Given the description of an element on the screen output the (x, y) to click on. 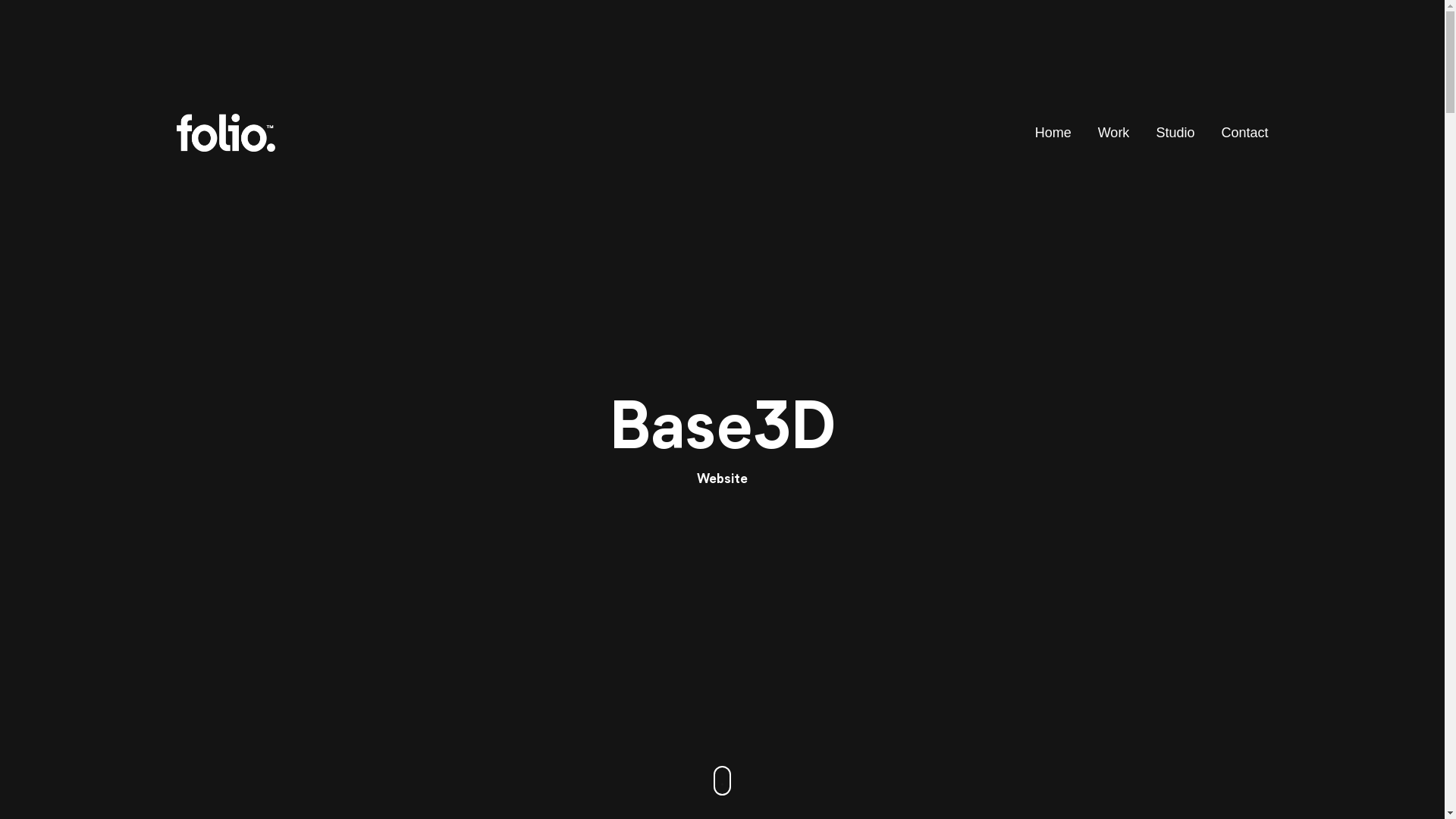
Studio Element type: text (1174, 132)
Work Element type: text (1113, 132)
Contact Element type: text (1243, 132)
Home Element type: text (1053, 132)
